Given the description of an element on the screen output the (x, y) to click on. 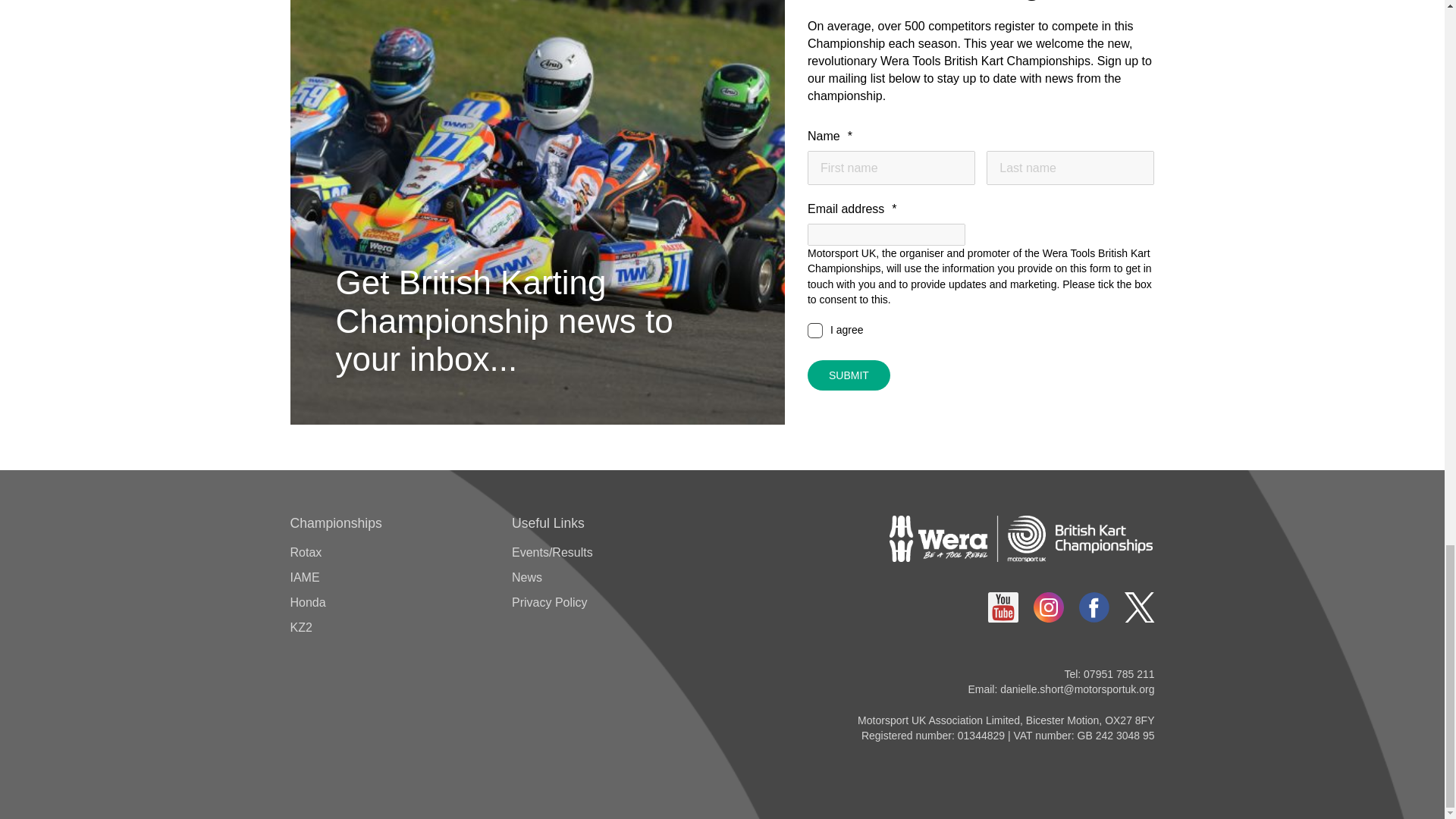
Rotax (305, 552)
Submit (848, 375)
Motorsport UK (1021, 538)
IAME (303, 576)
Submit (848, 375)
